Given the description of an element on the screen output the (x, y) to click on. 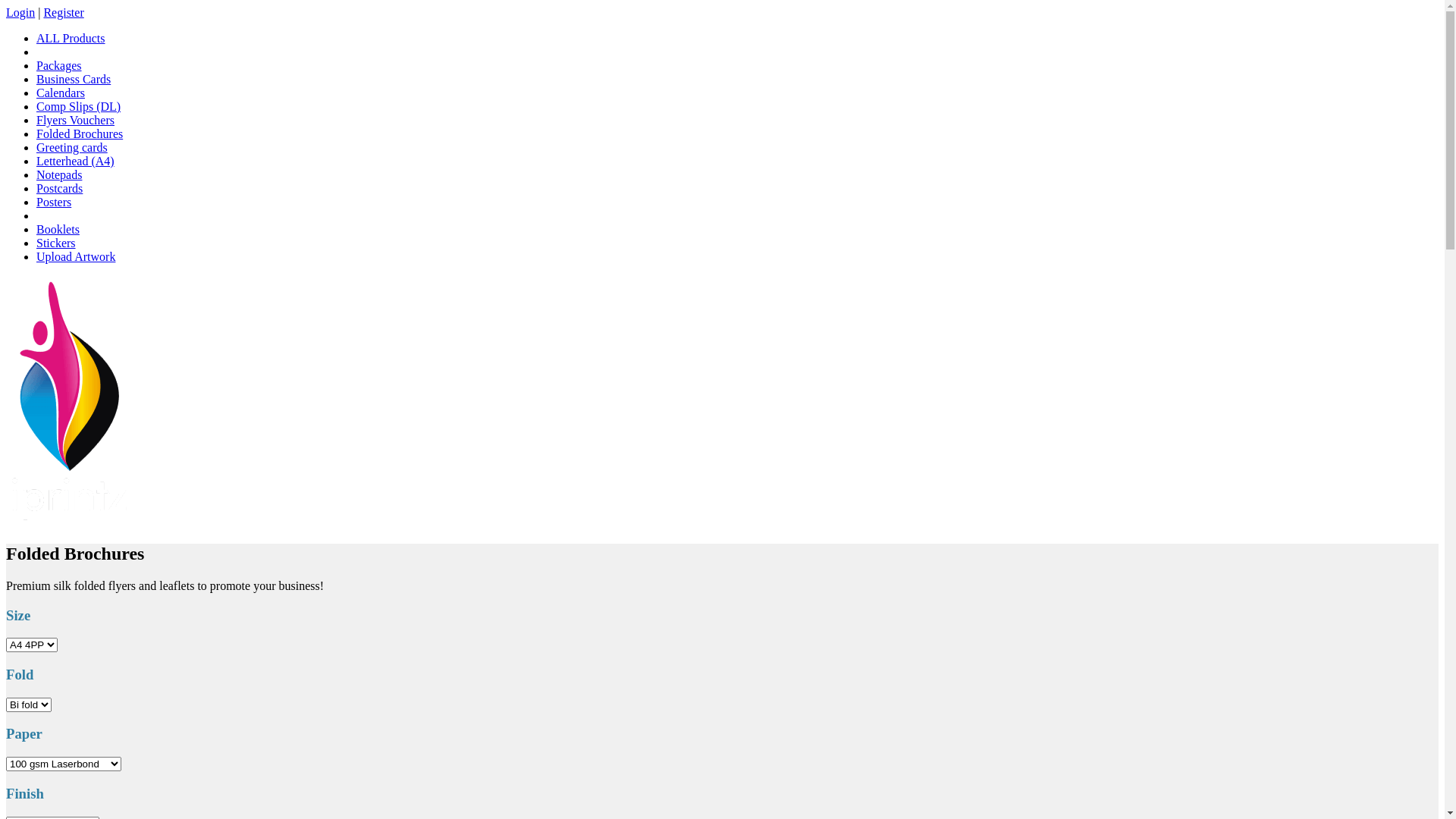
Upload Artwork Element type: text (75, 256)
Login Element type: text (20, 12)
Comp Slips (DL) Element type: text (78, 106)
Folded Brochures Element type: text (79, 133)
Packages Element type: text (58, 65)
ALL Products Element type: text (70, 37)
Register Element type: text (63, 12)
Booklets Element type: text (57, 228)
Calendars Element type: text (60, 92)
Letterhead (A4) Element type: text (75, 160)
Business Cards Element type: text (73, 78)
Posters Element type: text (53, 201)
Greeting cards Element type: text (71, 147)
Notepads Element type: text (58, 174)
Flyers Vouchers Element type: text (75, 119)
Postcards Element type: text (59, 188)
Stickers Element type: text (55, 242)
